Given the description of an element on the screen output the (x, y) to click on. 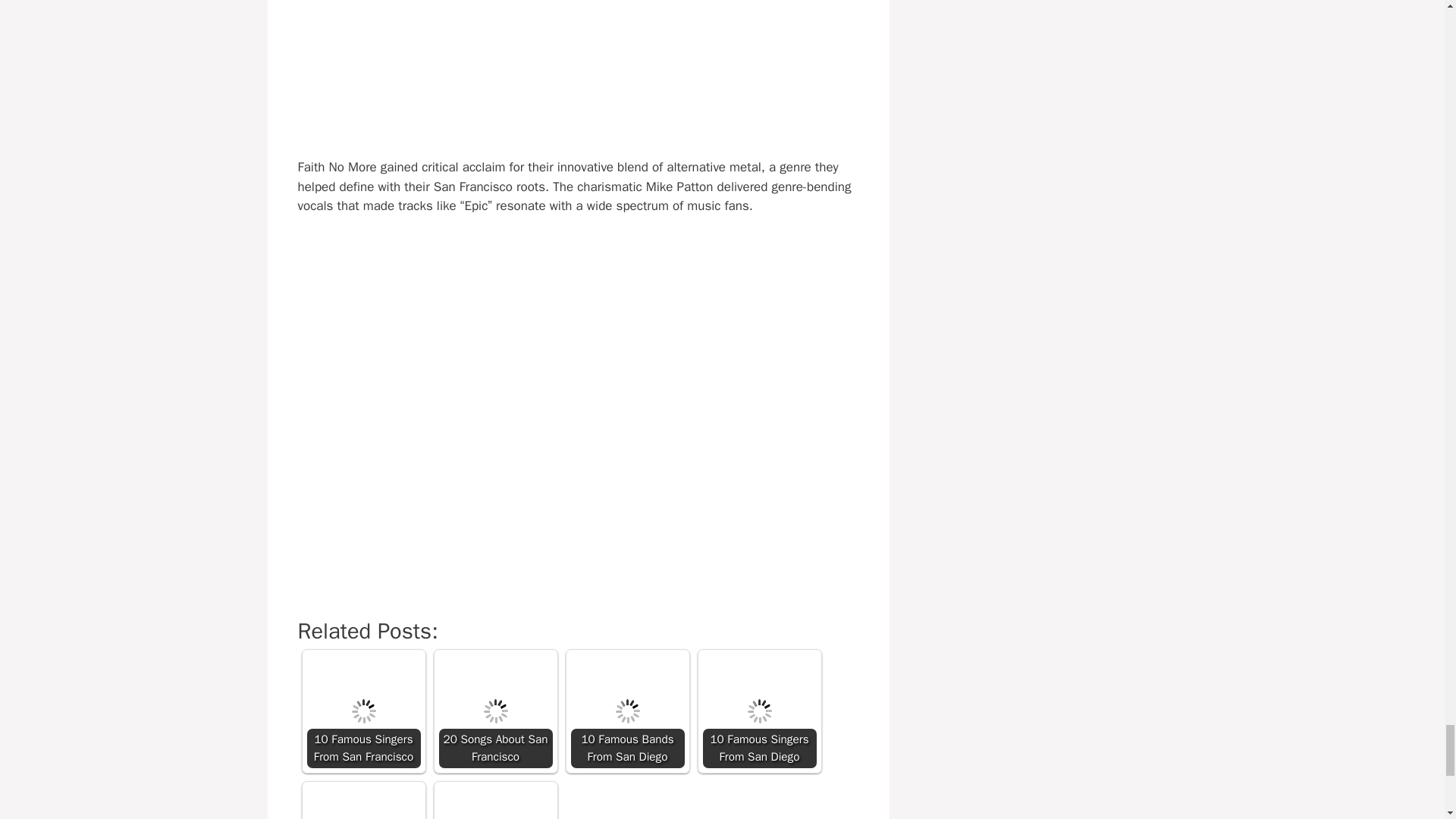
10 Famous Singers From San Francisco (362, 711)
